Given the description of an element on the screen output the (x, y) to click on. 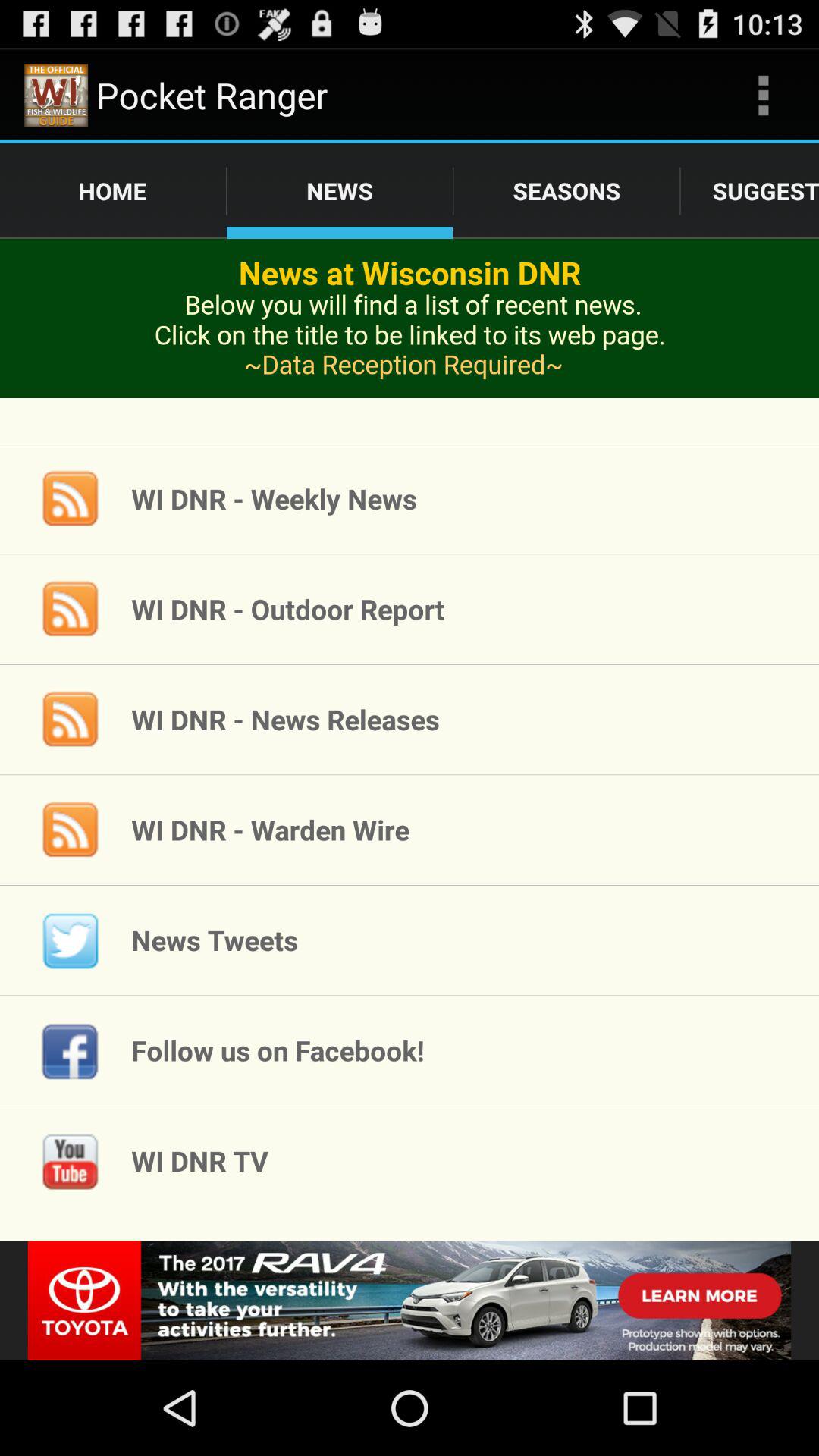
add the option (409, 1300)
